Given the description of an element on the screen output the (x, y) to click on. 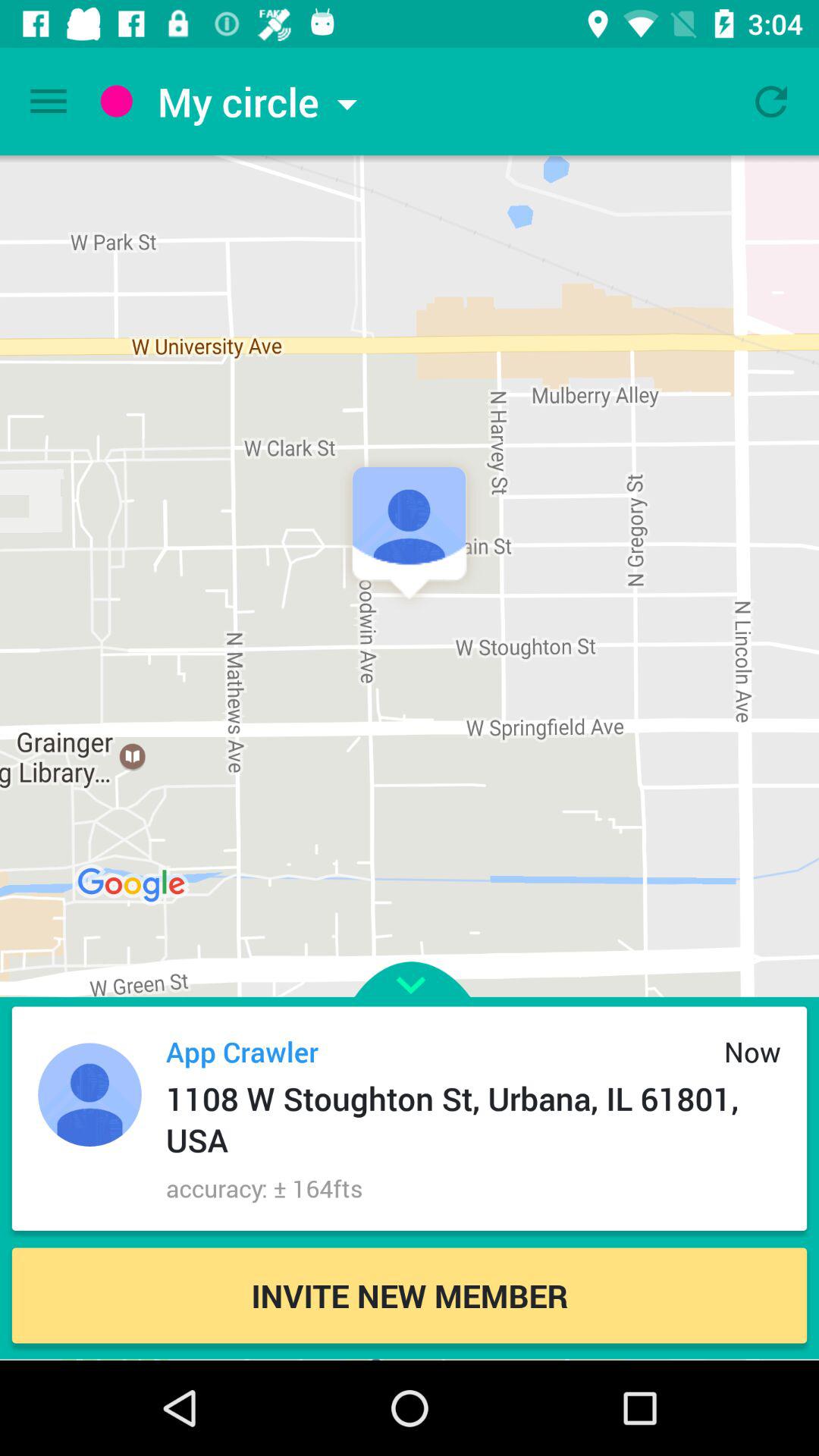
refresh page (771, 101)
